Given the description of an element on the screen output the (x, y) to click on. 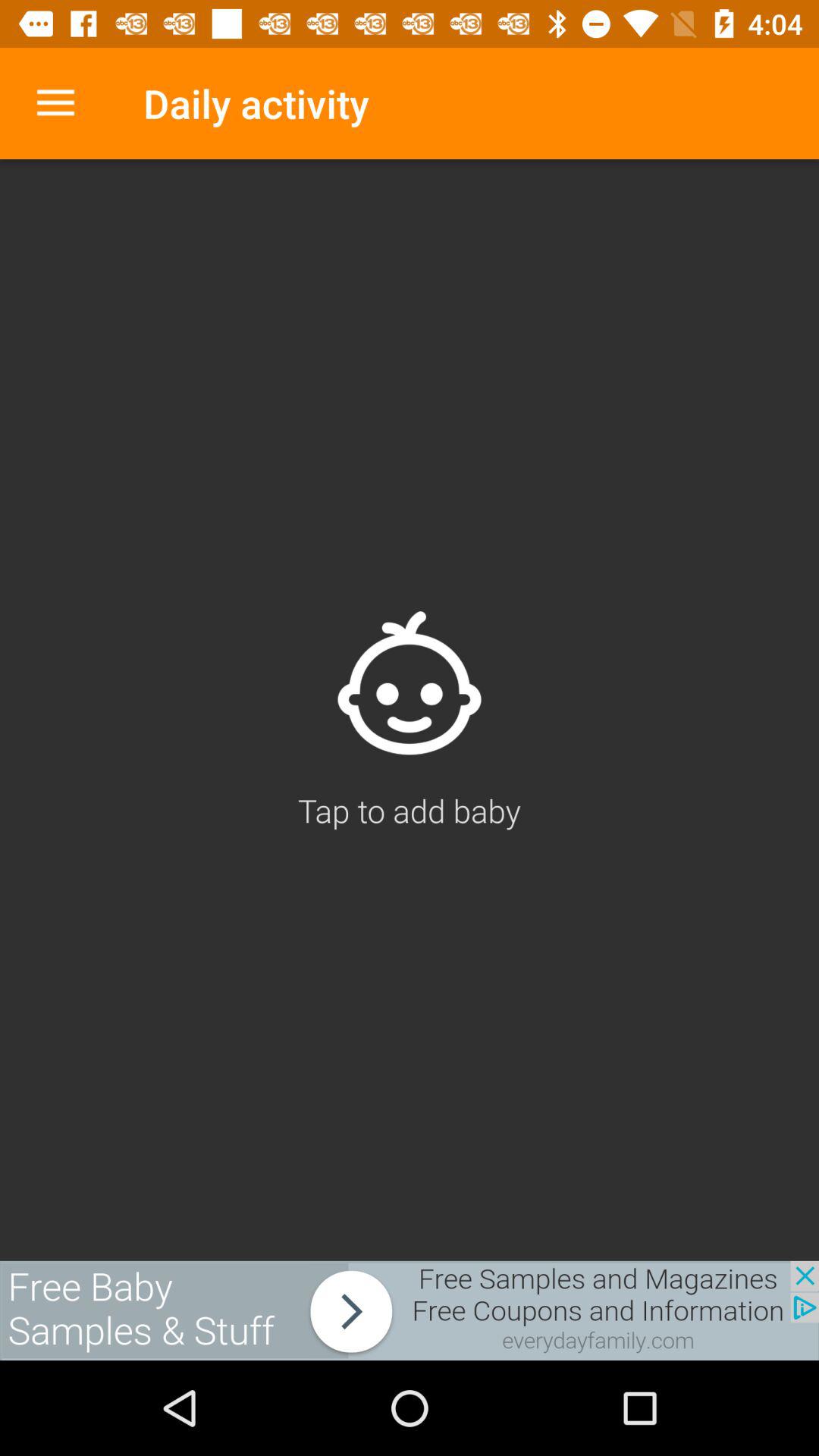
announcement (409, 1310)
